Given the description of an element on the screen output the (x, y) to click on. 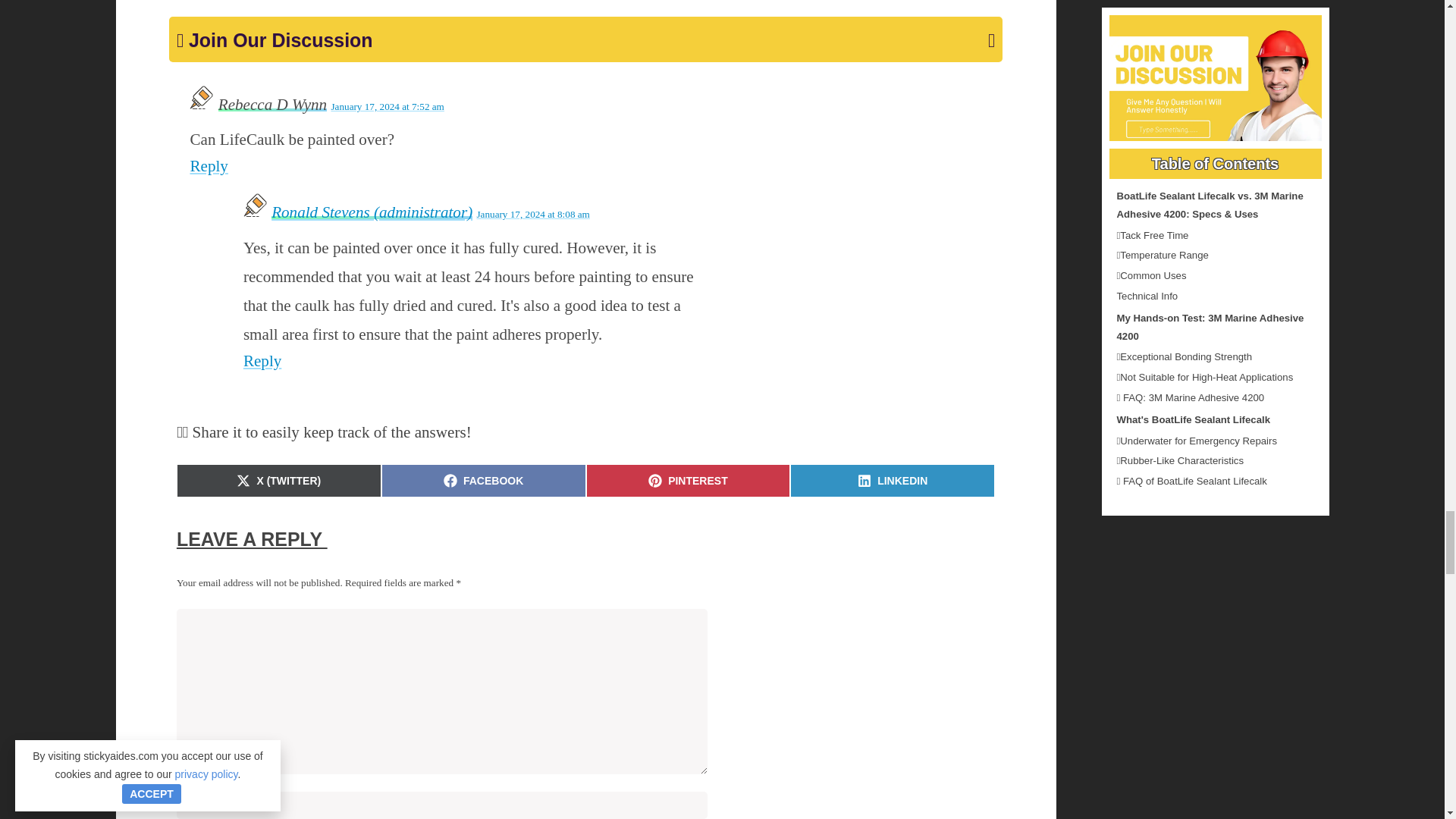
January 17, 2024 at 8:08 am (892, 480)
January 17, 2024 at 7:52 am (532, 214)
Reply (387, 106)
Reply (208, 166)
